Given the description of an element on the screen output the (x, y) to click on. 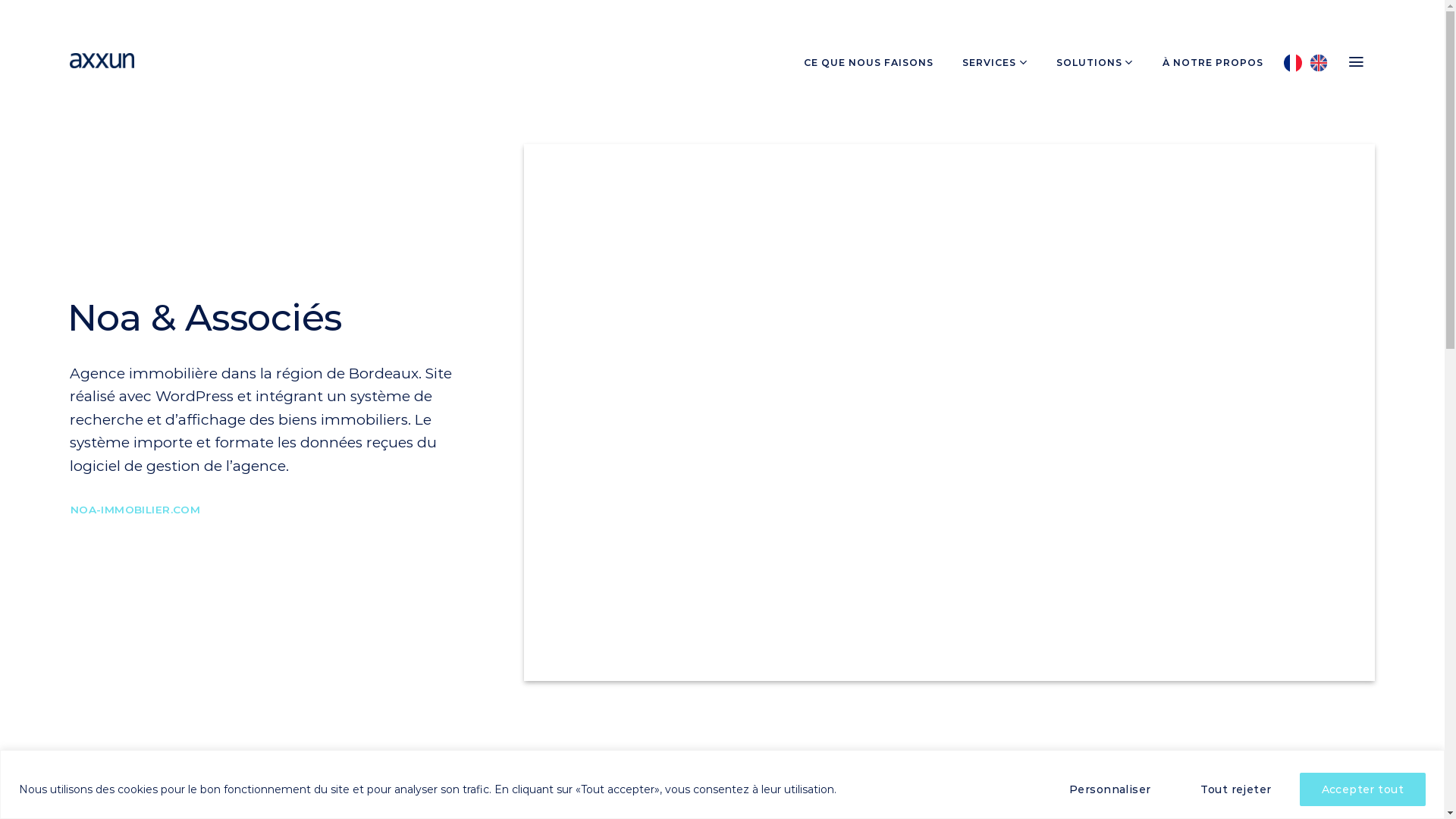
Accepter tout Element type: text (1362, 788)
Axxun - Google Cloud Partner Element type: hover (101, 60)
SOLUTIONS Element type: text (1094, 62)
NOA-IMMOBILIER.COM Element type: text (134, 509)
Personnaliser Element type: text (1109, 788)
CE QUE NOUS FAISONS Element type: text (868, 61)
Tout rejeter Element type: text (1235, 788)
SERVICES Element type: text (994, 62)
Language switcher : English Element type: hover (1322, 61)
